Given the description of an element on the screen output the (x, y) to click on. 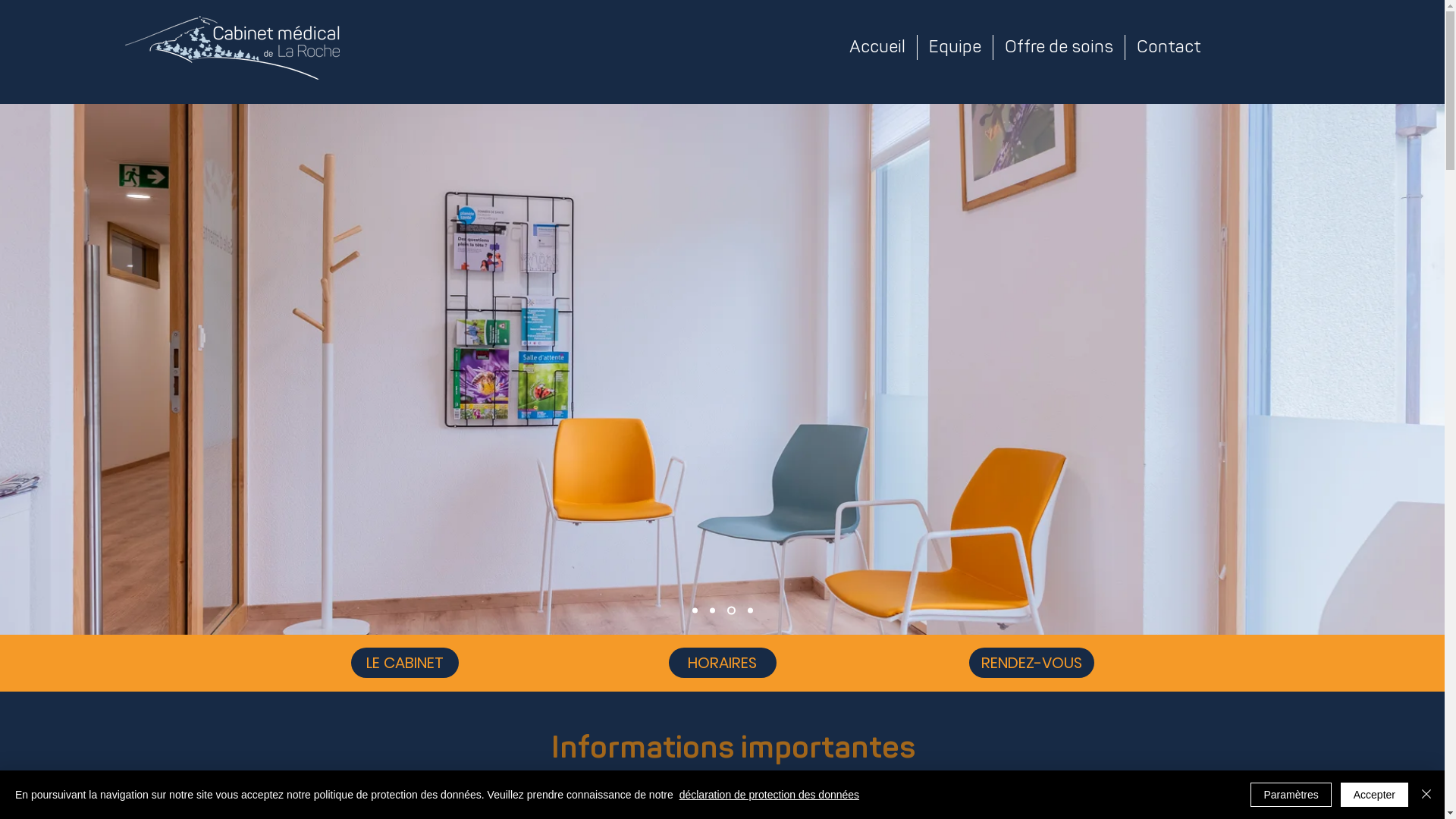
Equipe Element type: text (954, 46)
Accueil Element type: text (876, 46)
LE CABINET Element type: text (404, 662)
Contact Element type: text (1168, 46)
Accepter Element type: text (1374, 794)
Offre de soins Element type: text (1058, 46)
HORAIRES Element type: text (722, 662)
RENDEZ-VOUS Element type: text (1031, 662)
